Given the description of an element on the screen output the (x, y) to click on. 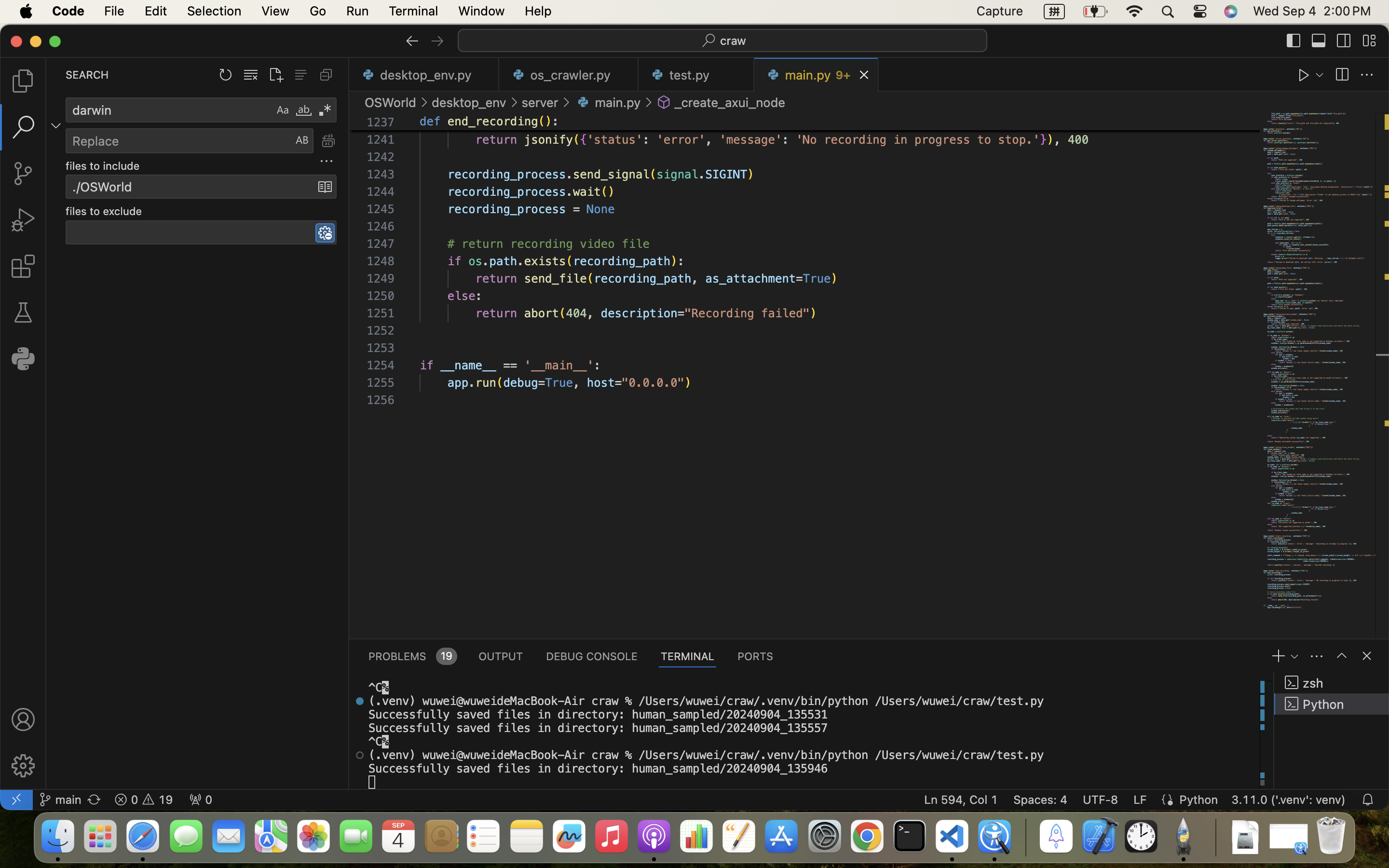
files to include Element type: AXStaticText (102, 166)
 Element type: AXStaticText (22, 765)
 Element type: AXGroup (1303, 74)
 0 Element type: AXButton (200, 799)
SEARCH Element type: AXStaticText (86, 74)
